Given the description of an element on the screen output the (x, y) to click on. 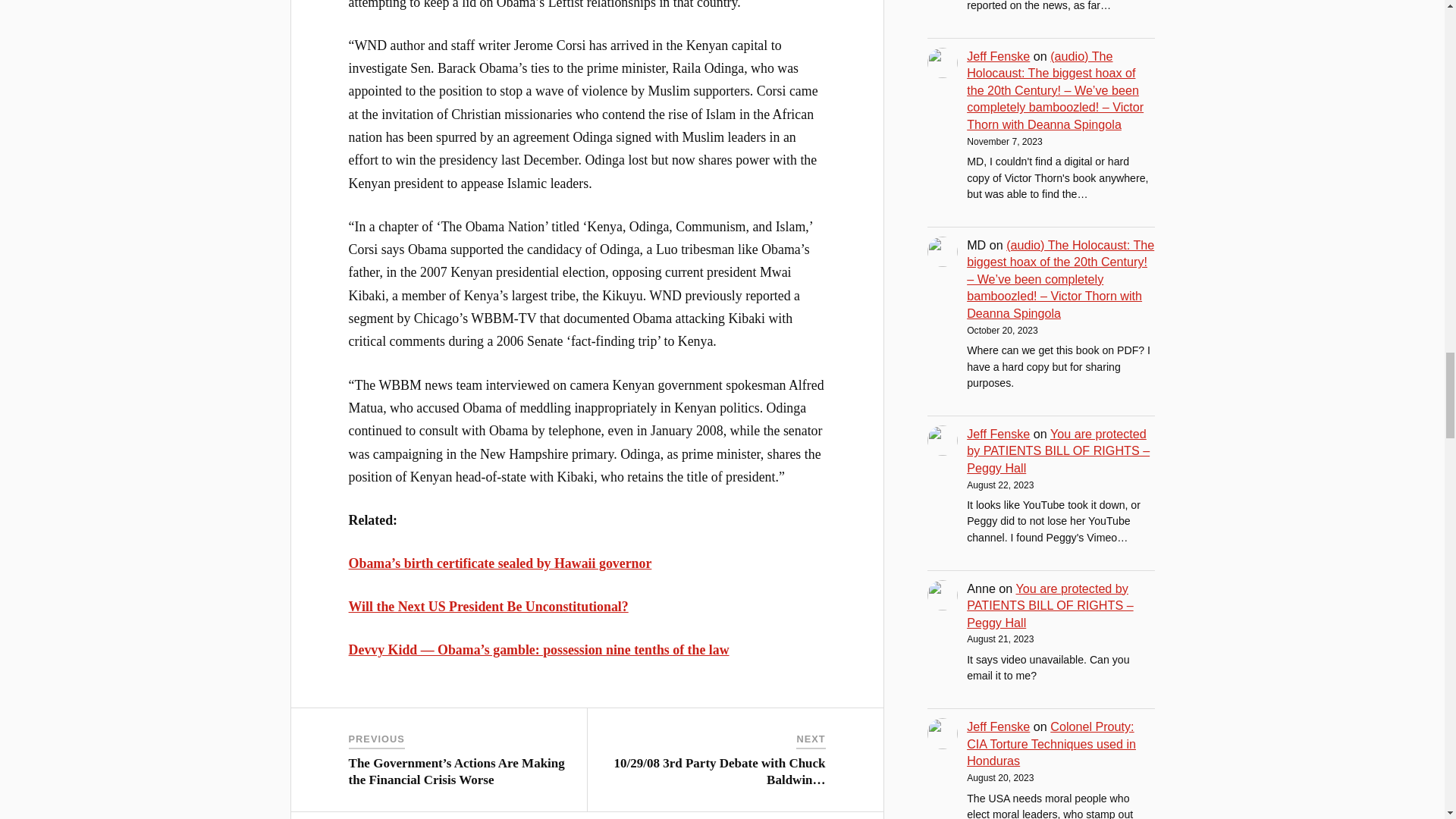
Will the Next US President Be Unconstitutional? (488, 606)
